Given the description of an element on the screen output the (x, y) to click on. 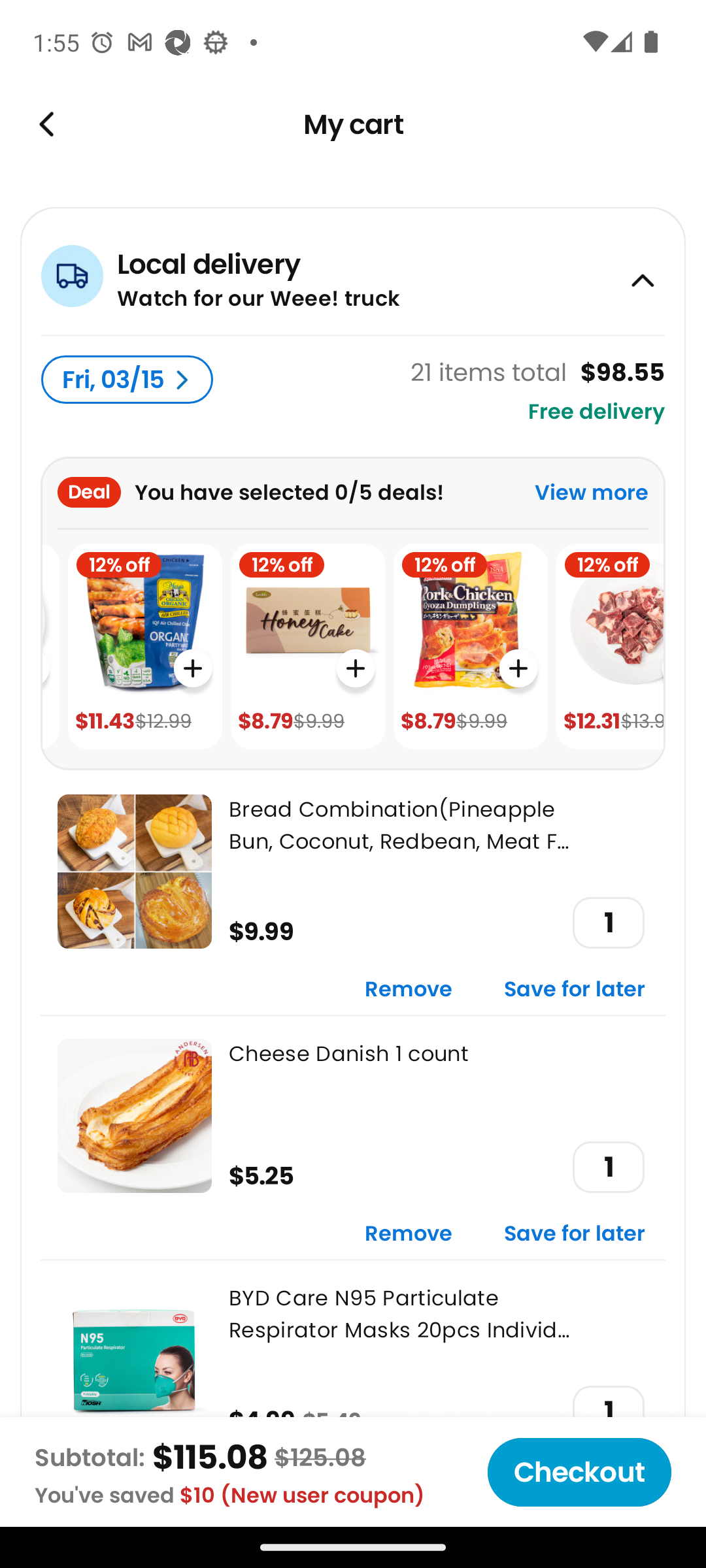
Local delivery Watch for our Weee! truck (352, 269)
Fri, 03/15 (126, 379)
12% off $11.43 $12.99 (144, 646)
12% off $8.79 $9.99 (307, 646)
12% off $8.79 $9.99 (470, 646)
12% off $12.31 $13.99 (609, 646)
1 (608, 922)
Remove (408, 989)
Save for later (574, 989)
1 (608, 1167)
Remove (408, 1234)
Save for later (574, 1234)
1 (608, 1411)
Checkout (579, 1471)
